Given the description of an element on the screen output the (x, y) to click on. 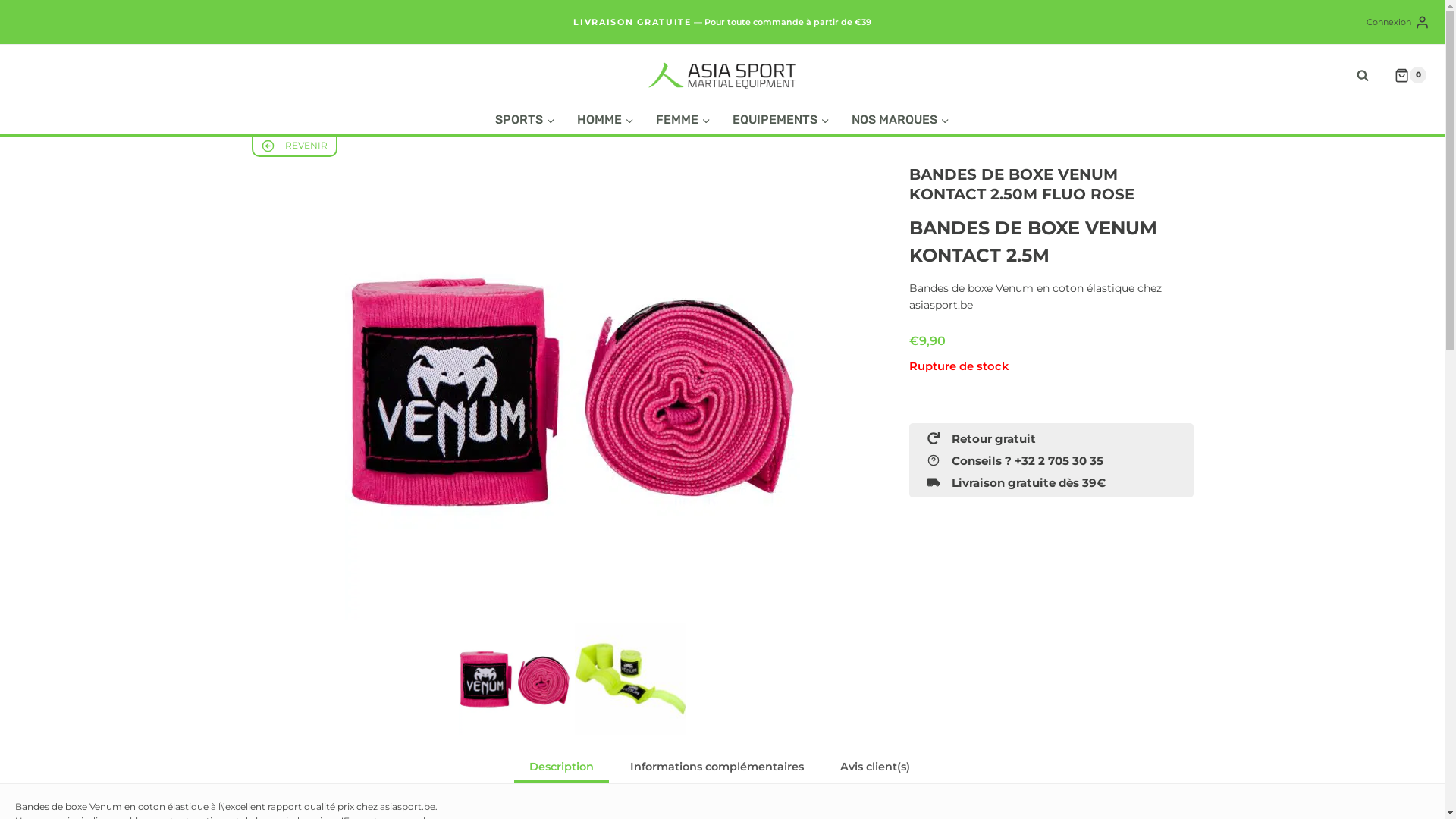
SPORTS Element type: text (525, 119)
0 Element type: text (1404, 74)
EQUIPEMENTS Element type: text (780, 119)
Connexion Element type: text (1397, 21)
Description Element type: text (561, 768)
NOS MARQUES Element type: text (900, 119)
Avis client(s) Element type: text (875, 768)
REVENIR Element type: text (294, 145)
HOMME Element type: text (605, 119)
FEMME Element type: text (683, 119)
+32 2 705 30 35 Element type: text (1058, 460)
